Given the description of an element on the screen output the (x, y) to click on. 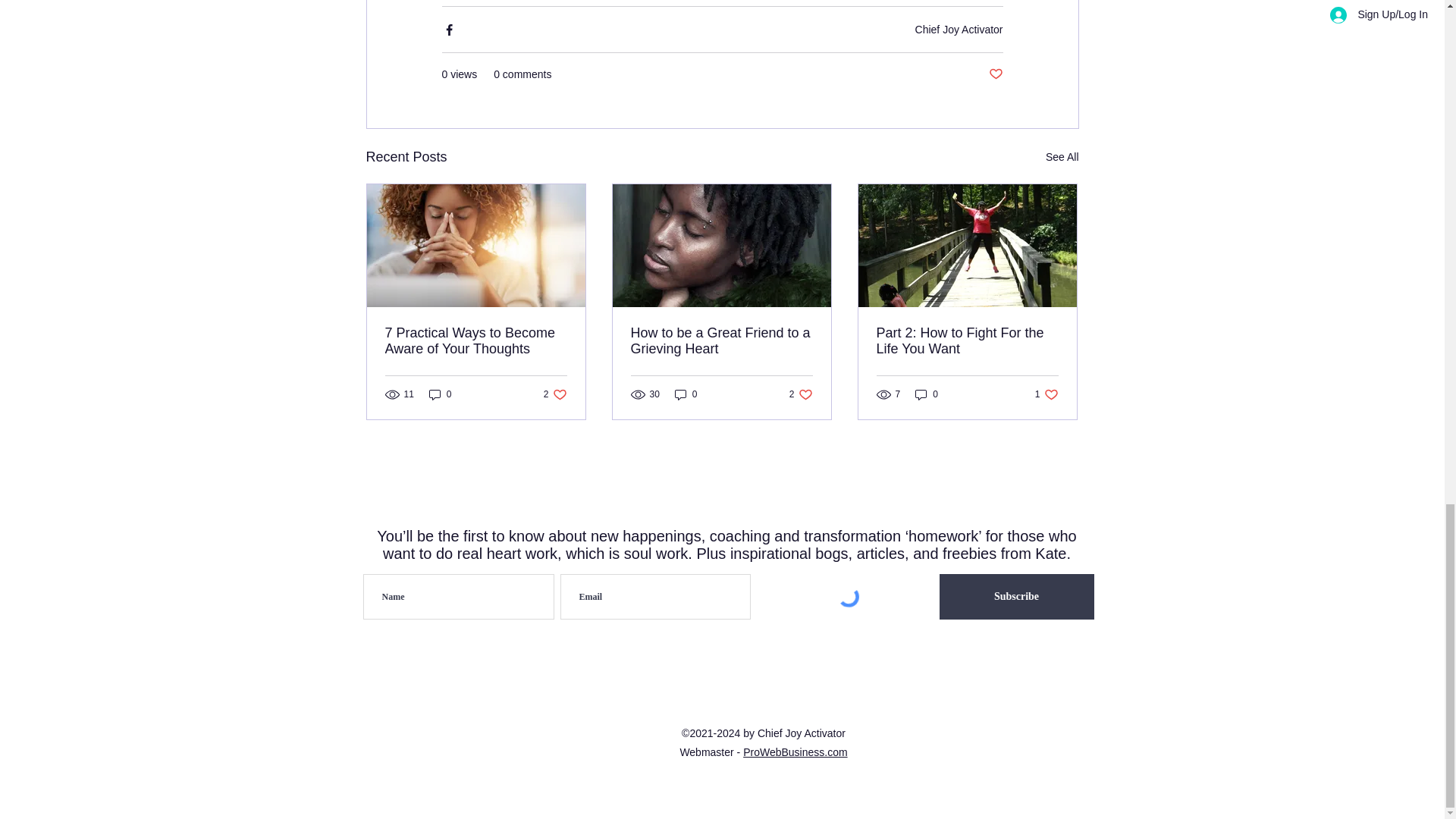
7 Practical Ways to Become Aware of Your Thoughts (476, 341)
0 (1046, 393)
Part 2: How to Fight For the Life You Want (926, 393)
Post not marked as liked (967, 341)
ProWebBusiness.com (995, 74)
See All (555, 393)
Chief Joy Activator (794, 752)
0 (800, 393)
How to be a Great Friend to a Grieving Heart (1061, 157)
Subscribe (959, 28)
0 (685, 393)
